Given the description of an element on the screen output the (x, y) to click on. 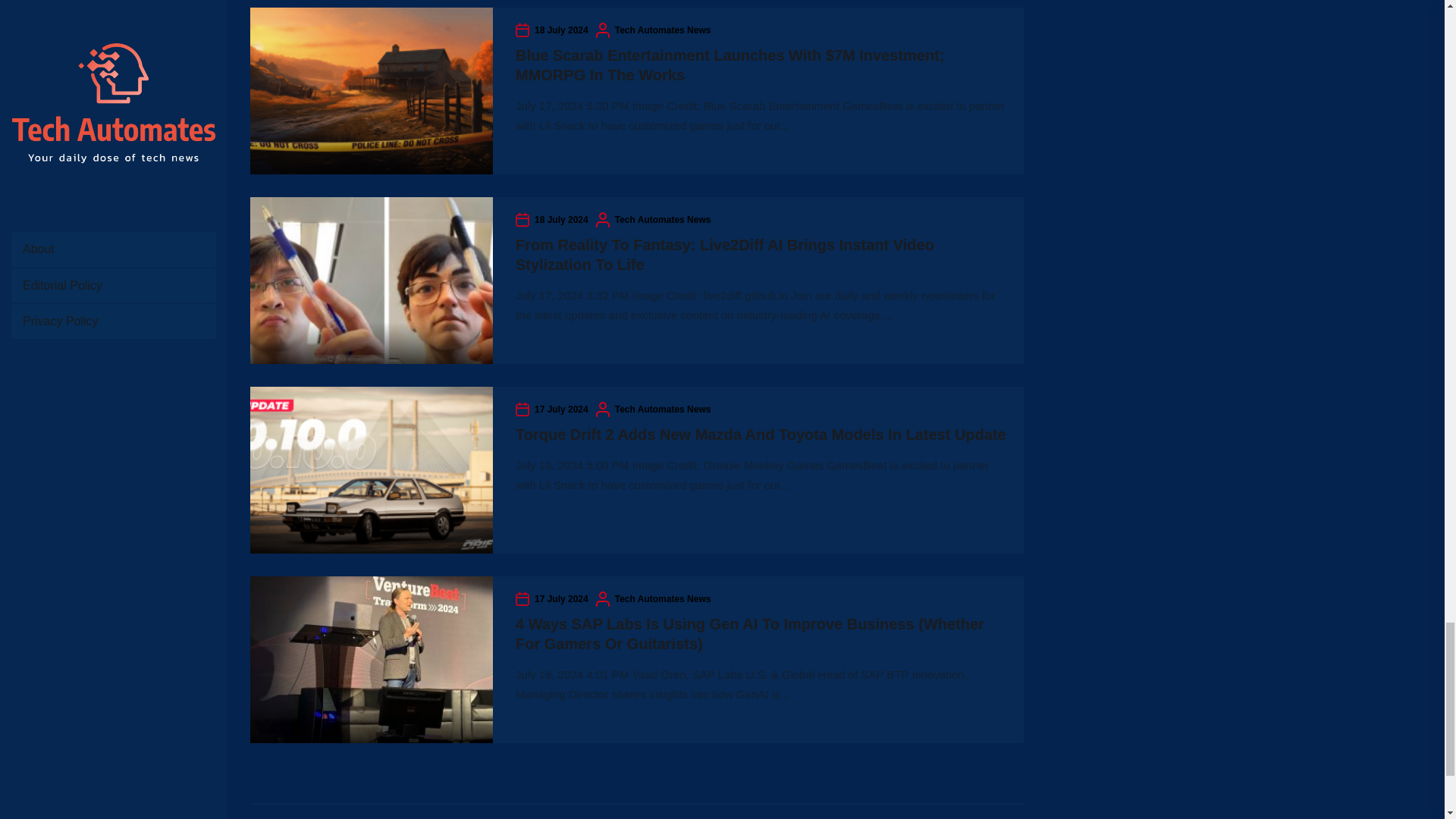
17 July 2024 (561, 598)
18 July 2024 (561, 219)
18 July 2024 (561, 29)
Tech Automates News (662, 409)
17 July 2024 (561, 409)
Tech Automates News (662, 598)
Tech Automates News (662, 219)
Tech Automates News (662, 29)
